Given the description of an element on the screen output the (x, y) to click on. 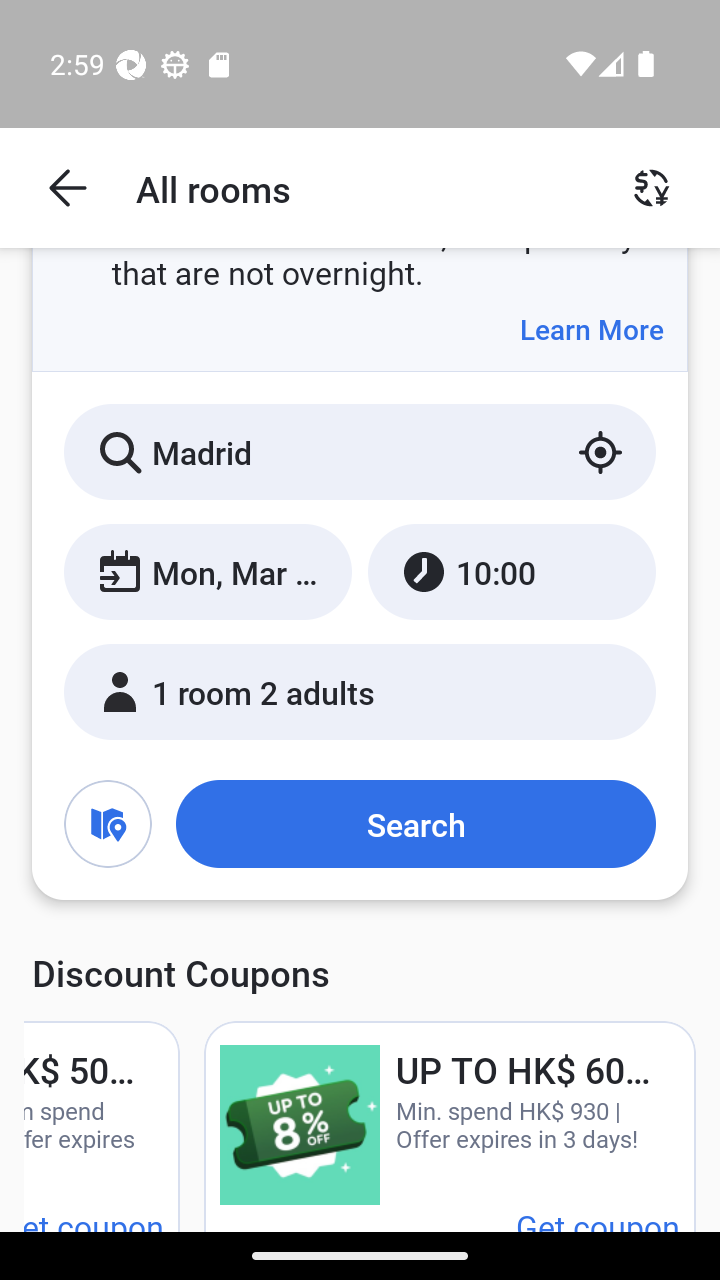
Learn More (591, 329)
Madrid (359, 452)
Mon, Mar 11 (208, 571)
10:00 (511, 571)
1 room 2 adults (359, 691)
Search (415, 823)
